Given the description of an element on the screen output the (x, y) to click on. 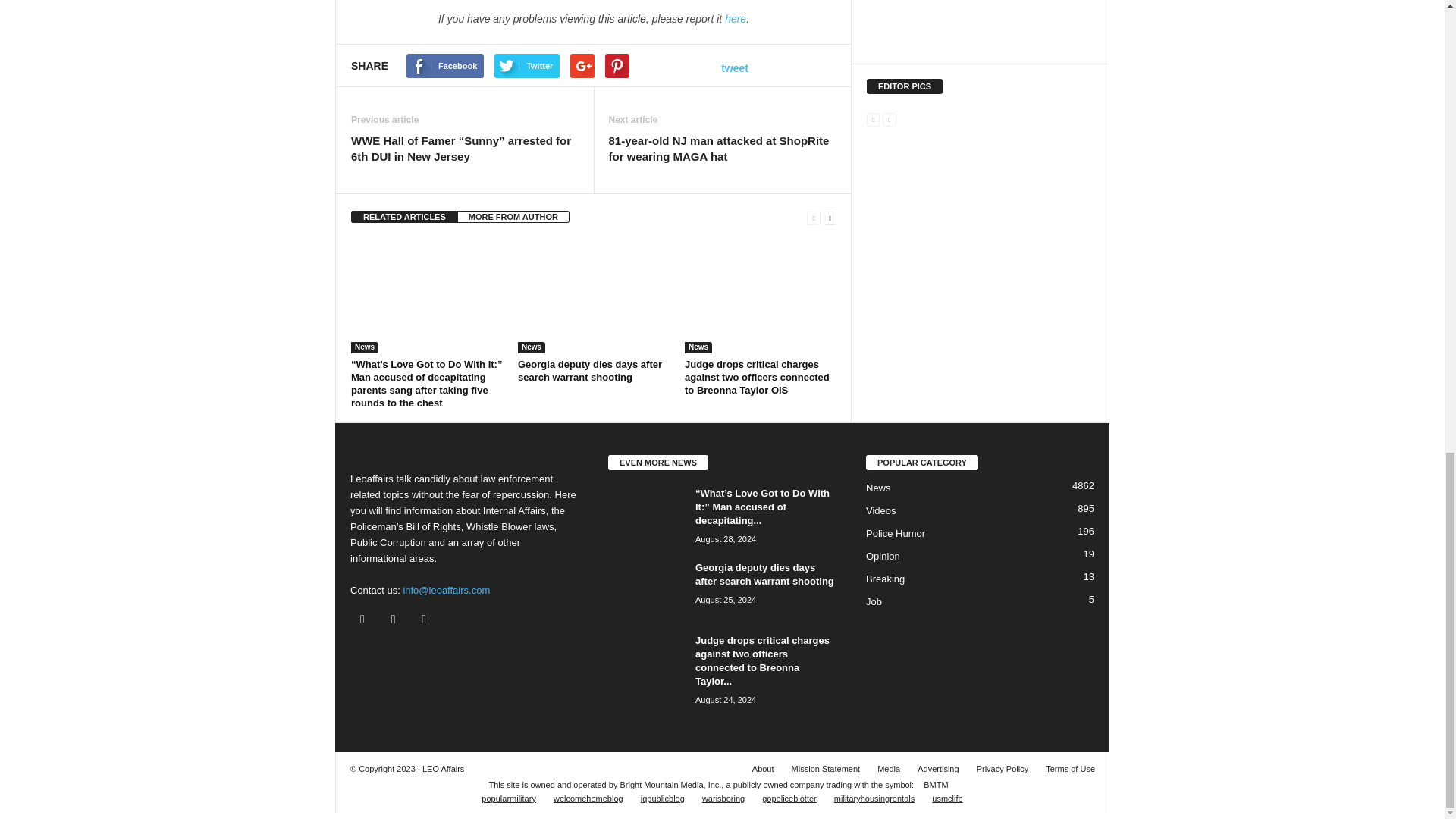
Georgia deputy dies days after search warrant shooting (590, 370)
Georgia deputy dies days after search warrant shooting (593, 295)
